Given the description of an element on the screen output the (x, y) to click on. 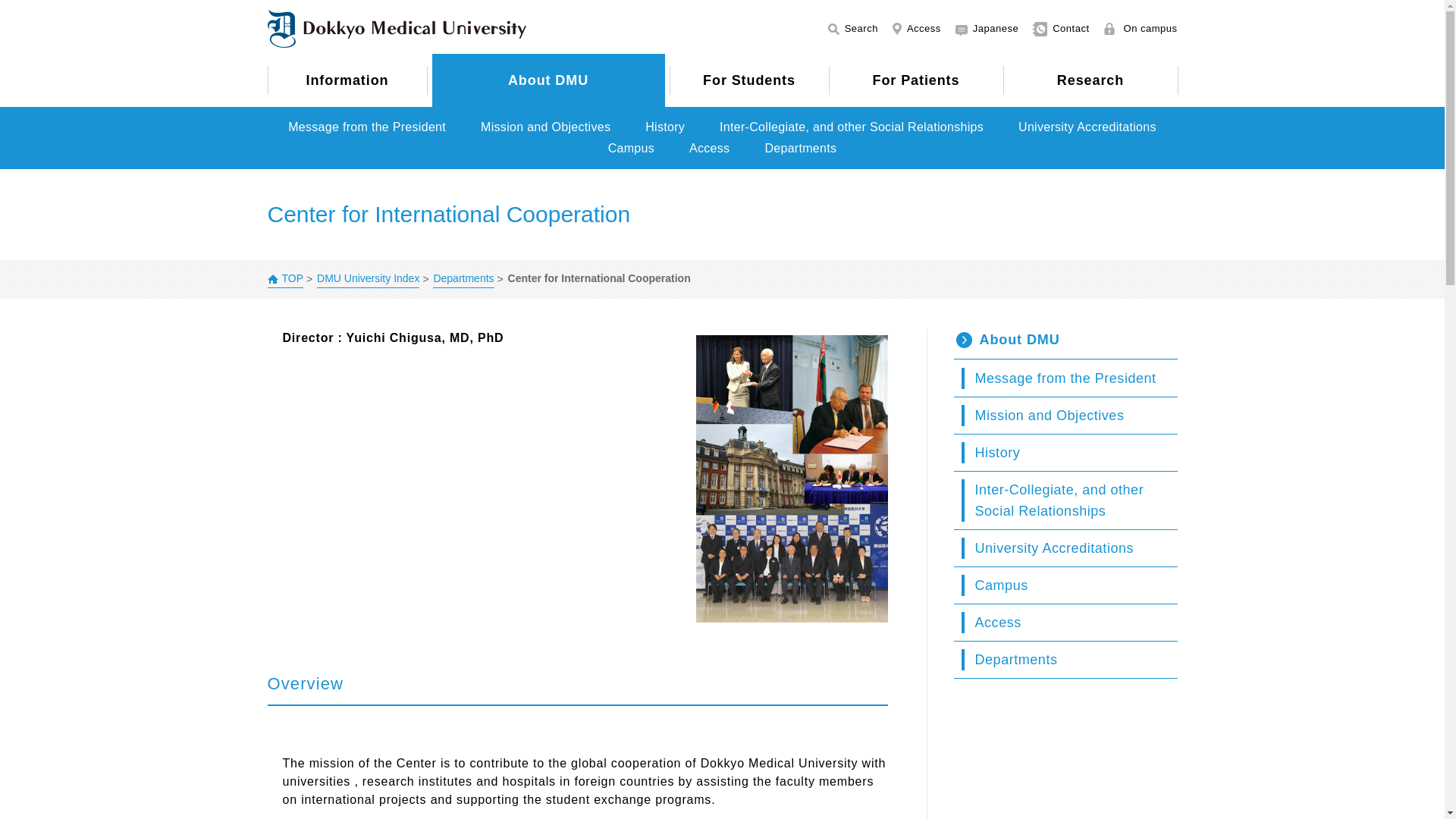
On campus (1140, 28)
Contact (1060, 28)
DMU University Index (368, 279)
Search (852, 28)
Research (1091, 80)
Inter-Collegiate, and other Social Relationships (851, 126)
Message from the President (366, 126)
Campus (630, 148)
Departments (462, 279)
University Accreditations (1086, 126)
